Given the description of an element on the screen output the (x, y) to click on. 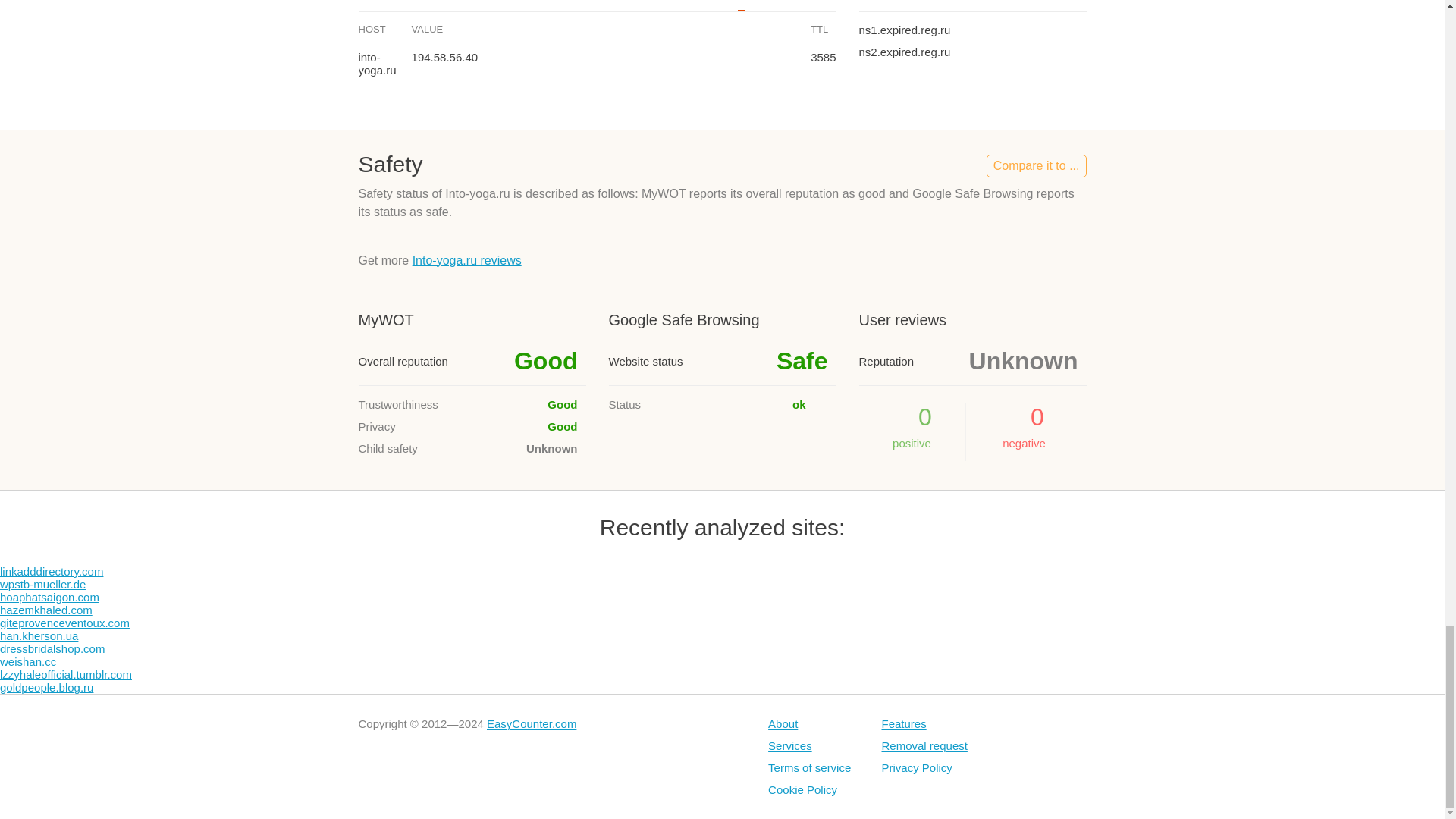
A (741, 5)
Compare it to ... (1036, 165)
NS (768, 5)
SOA (804, 5)
